Given the description of an element on the screen output the (x, y) to click on. 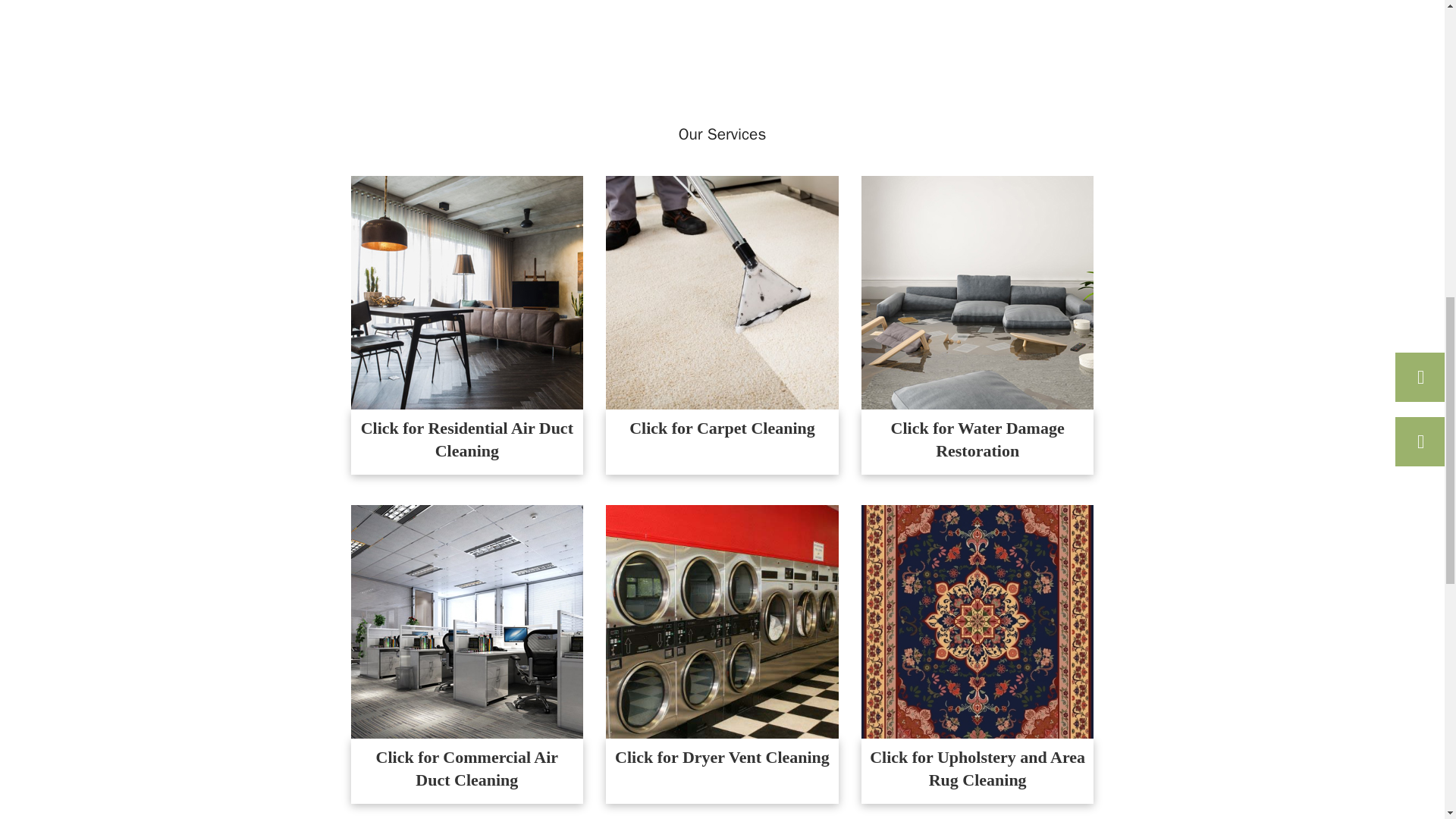
dryer-vent-cleaning (721, 621)
professional-carpet-cleaner (721, 292)
